Given the description of an element on the screen output the (x, y) to click on. 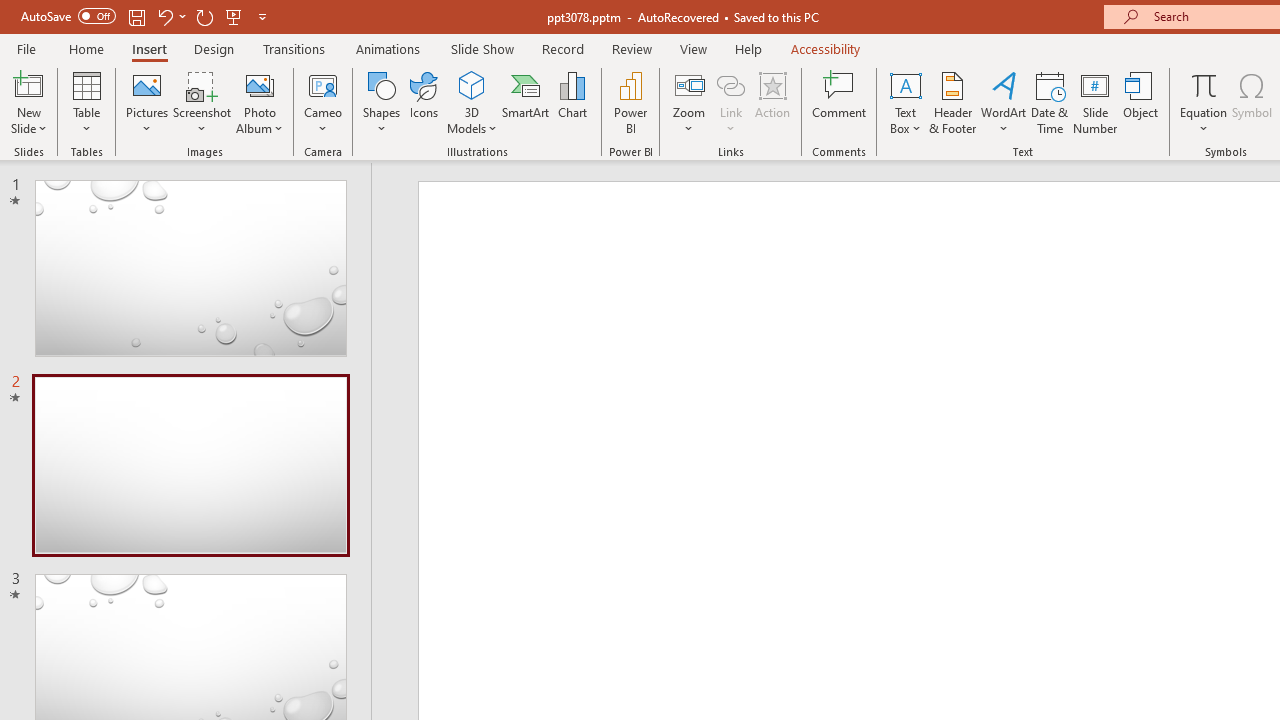
Action (772, 102)
Draw Horizontal Text Box (905, 84)
WordArt (1004, 102)
Equation (1203, 84)
Equation (1203, 102)
